Given the description of an element on the screen output the (x, y) to click on. 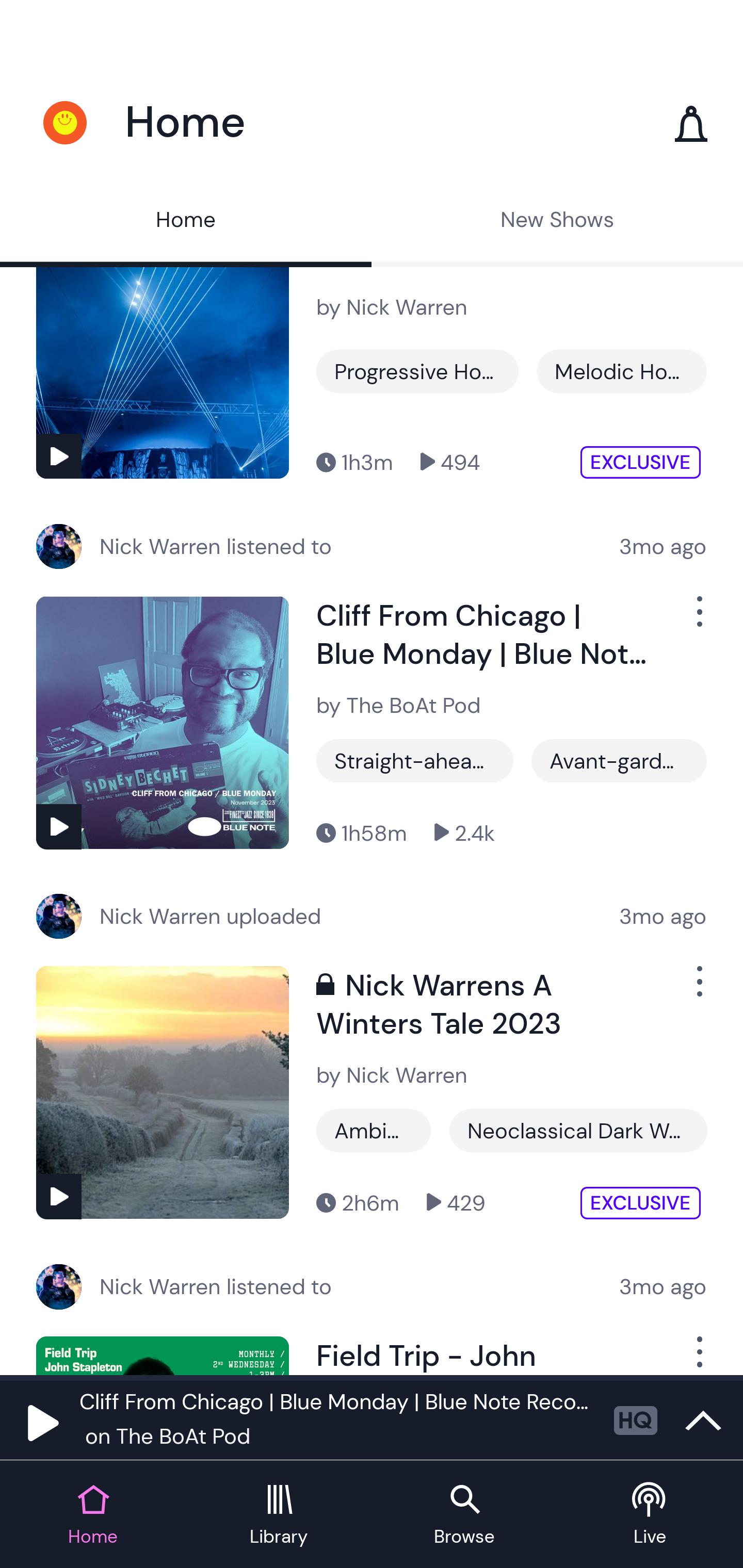
Home (185, 221)
New Shows (557, 221)
Progressive House (417, 371)
Melodic House (621, 371)
Show Options Menu Button (697, 618)
Straight-ahead Jazz (414, 760)
Avant-garde Jazz (618, 760)
Show Options Menu Button (697, 988)
Ambient (373, 1130)
Neoclassical Dark Wave (577, 1130)
Show Options Menu Button (697, 1355)
Home tab Home (92, 1515)
Library tab Library (278, 1515)
Browse tab Browse (464, 1515)
Live tab Live (650, 1515)
